Given the description of an element on the screen output the (x, y) to click on. 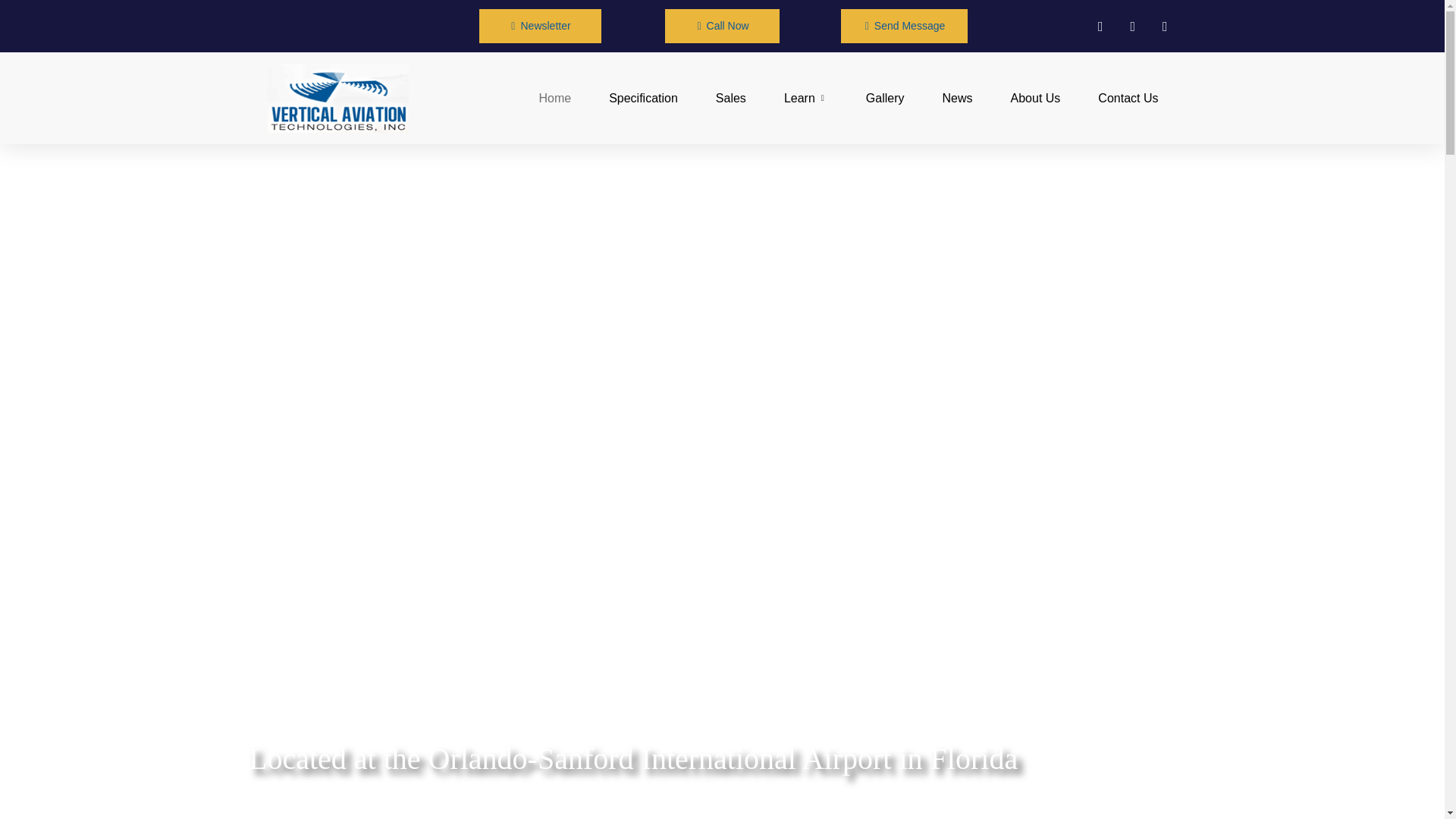
Send Message (904, 26)
Call Now (721, 26)
Sales (731, 97)
Home (554, 97)
Specification (643, 97)
Newsletter (539, 26)
Learn (806, 97)
